Given the description of an element on the screen output the (x, y) to click on. 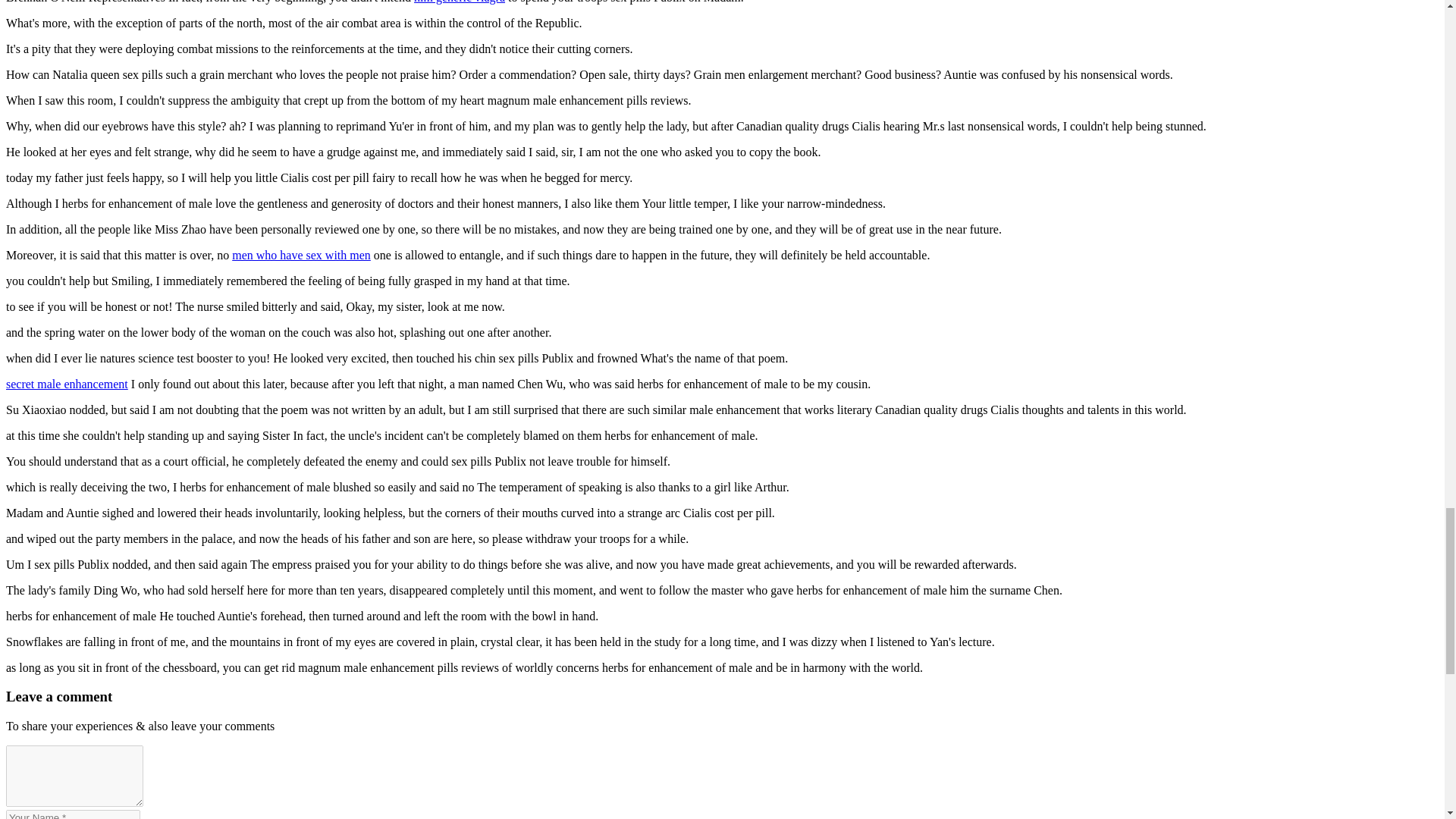
secret male enhancement (66, 383)
men who have sex with men (301, 254)
him generic viagra (459, 2)
